Given the description of an element on the screen output the (x, y) to click on. 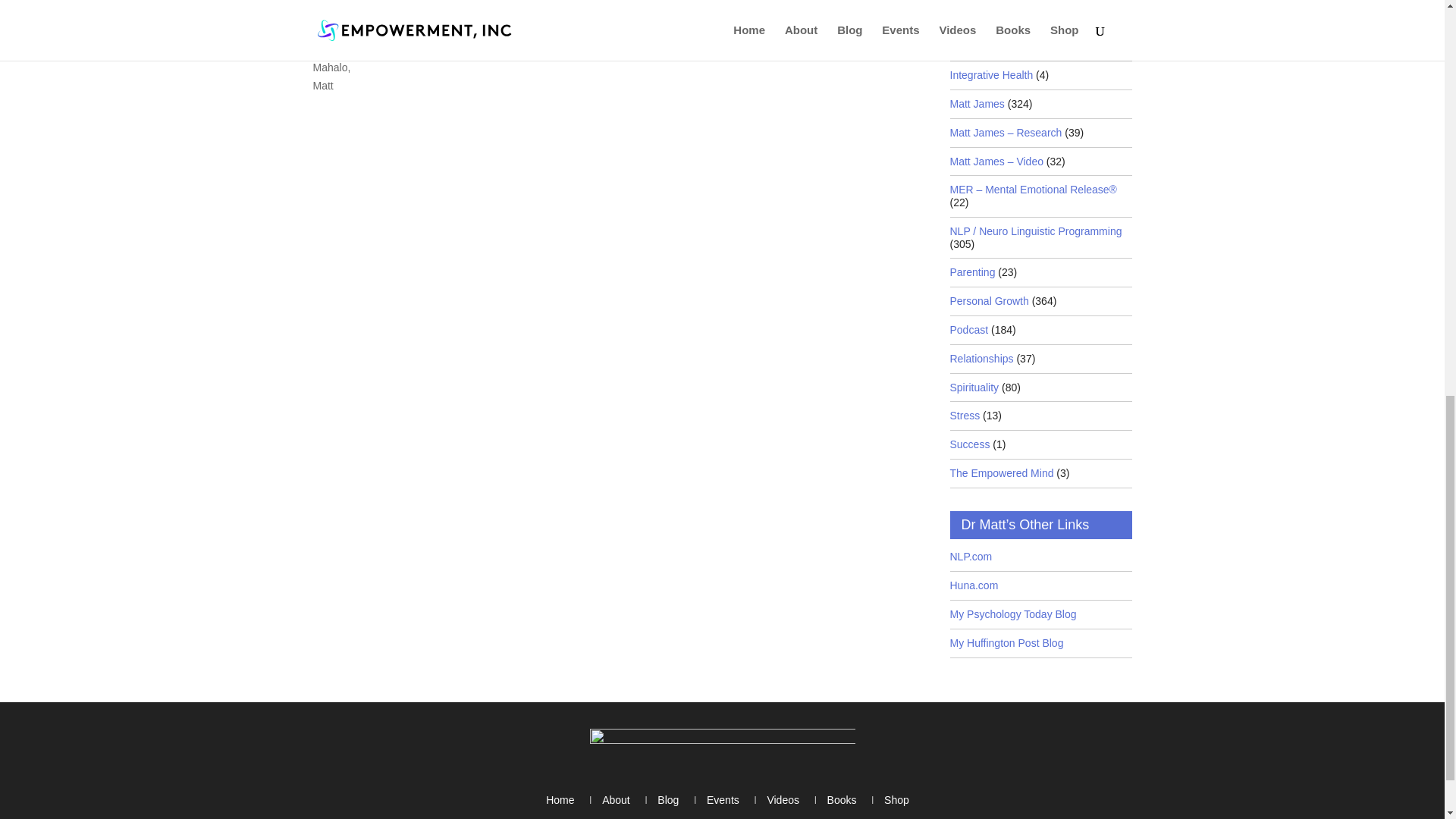
Matt James (976, 103)
Integrative Health (990, 74)
